Given the description of an element on the screen output the (x, y) to click on. 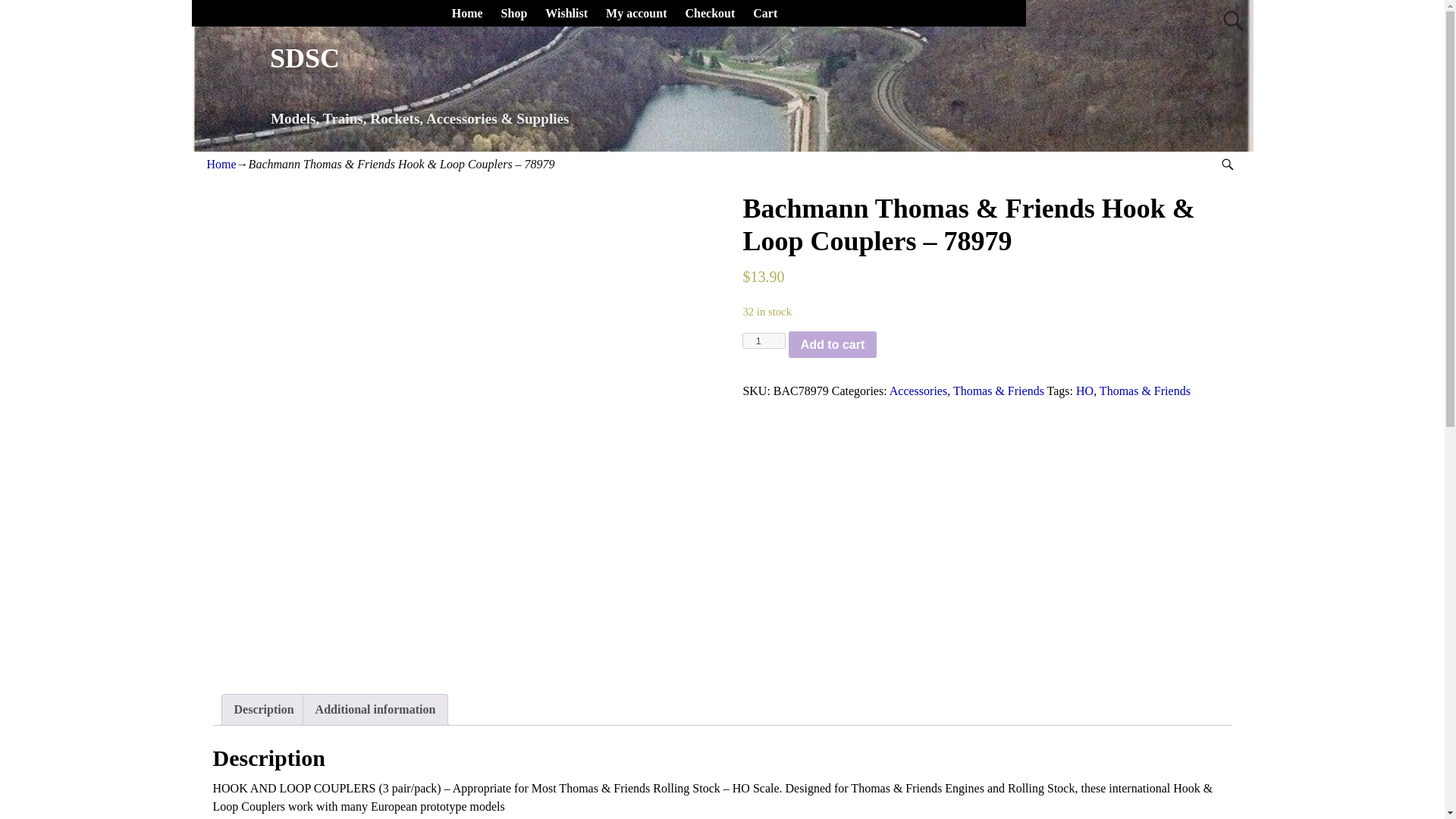
My account (635, 13)
Home (220, 164)
SDSC (303, 58)
Cart (765, 13)
Description (263, 709)
Shop (514, 13)
Checkout (709, 13)
Wishlist (565, 13)
Additional information (375, 709)
1 (763, 340)
